Given the description of an element on the screen output the (x, y) to click on. 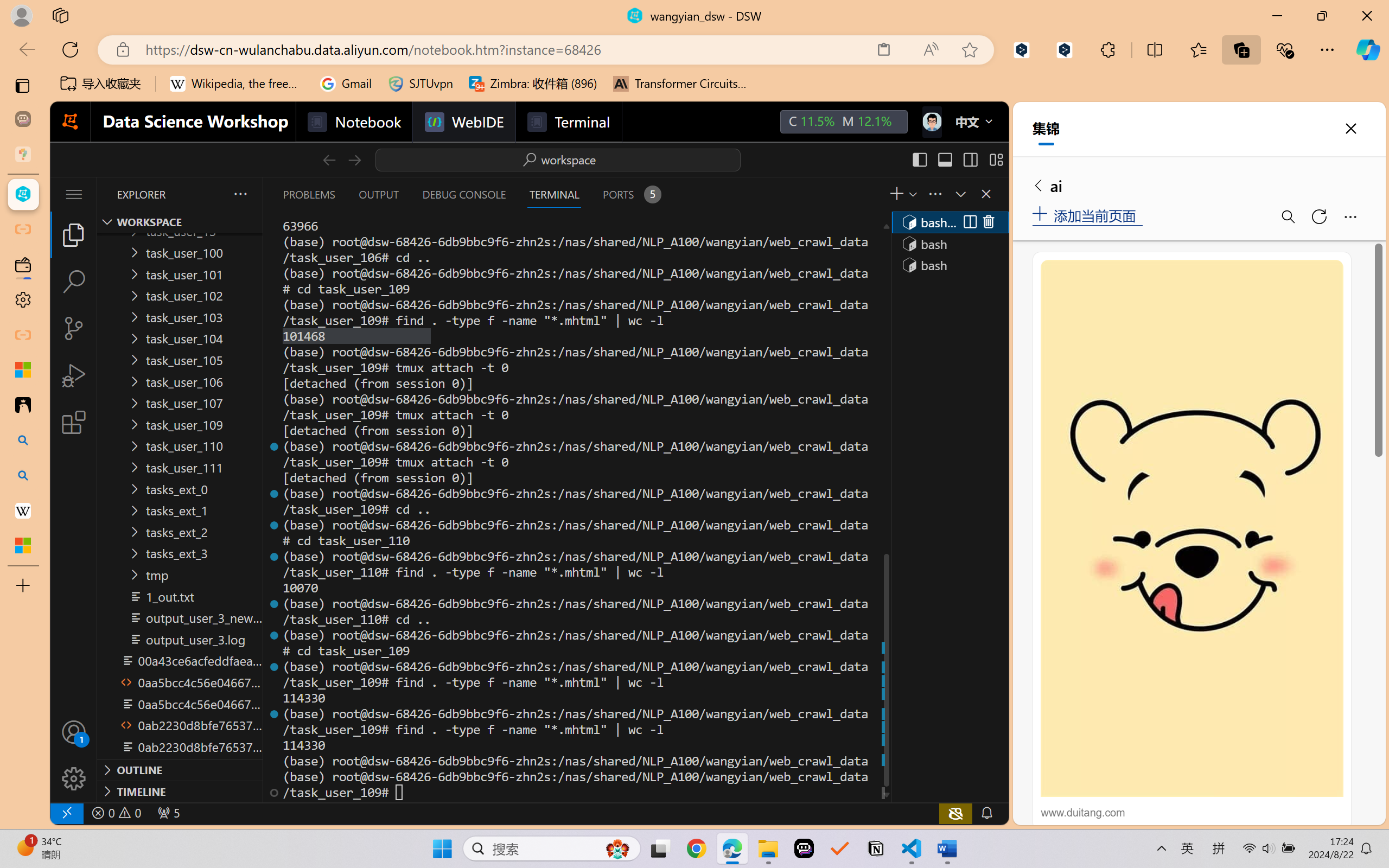
Views and More Actions... (934, 193)
Ports - 5 forwarded ports (630, 194)
Output (Ctrl+Shift+U) (377, 194)
Debug Console (Ctrl+Shift+Y) (463, 194)
Terminal 1 bash (949, 221)
Wikipedia, the free encyclopedia (236, 83)
